Given the description of an element on the screen output the (x, y) to click on. 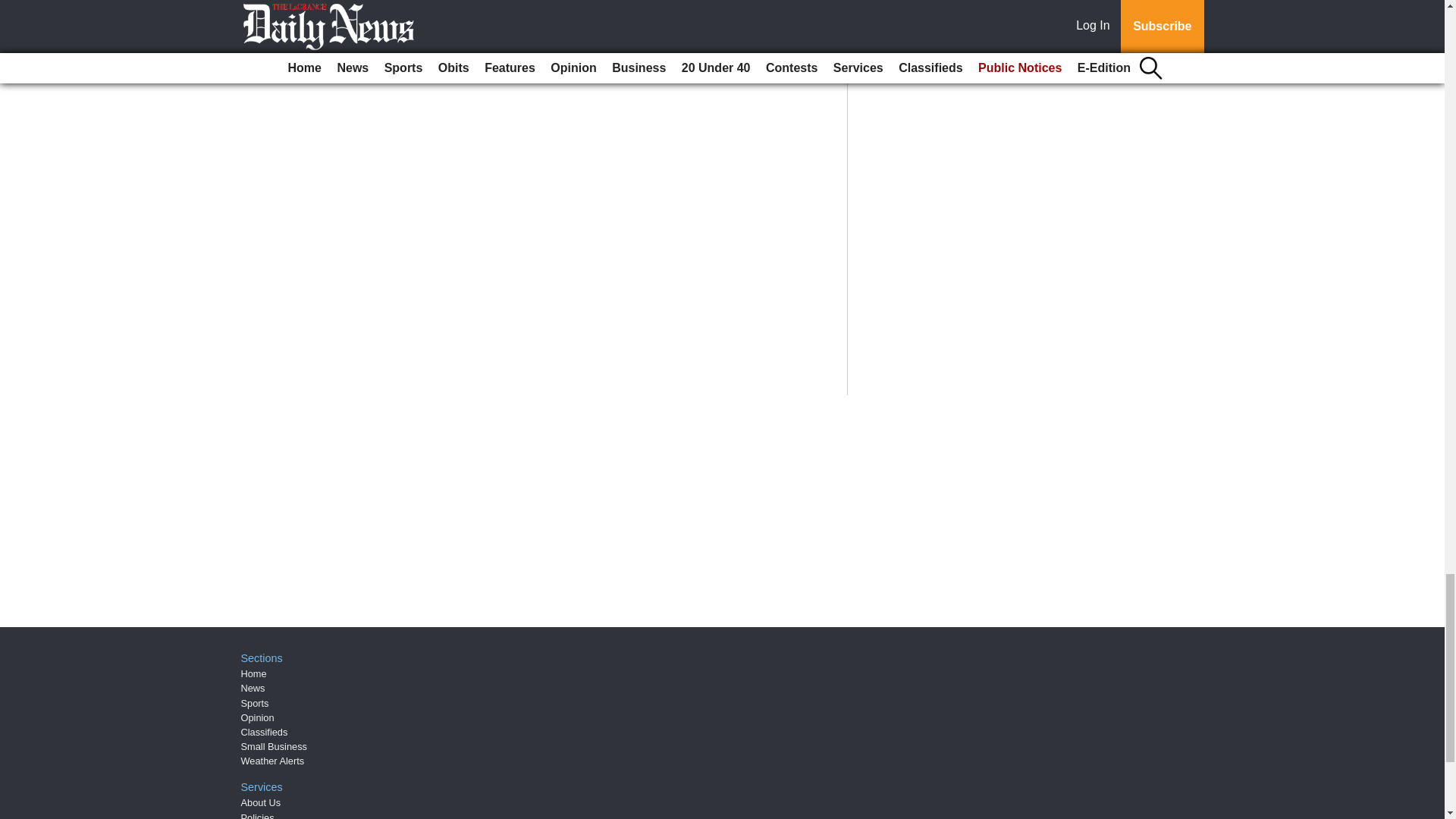
Home (253, 673)
News (252, 687)
Sports (255, 703)
